Given the description of an element on the screen output the (x, y) to click on. 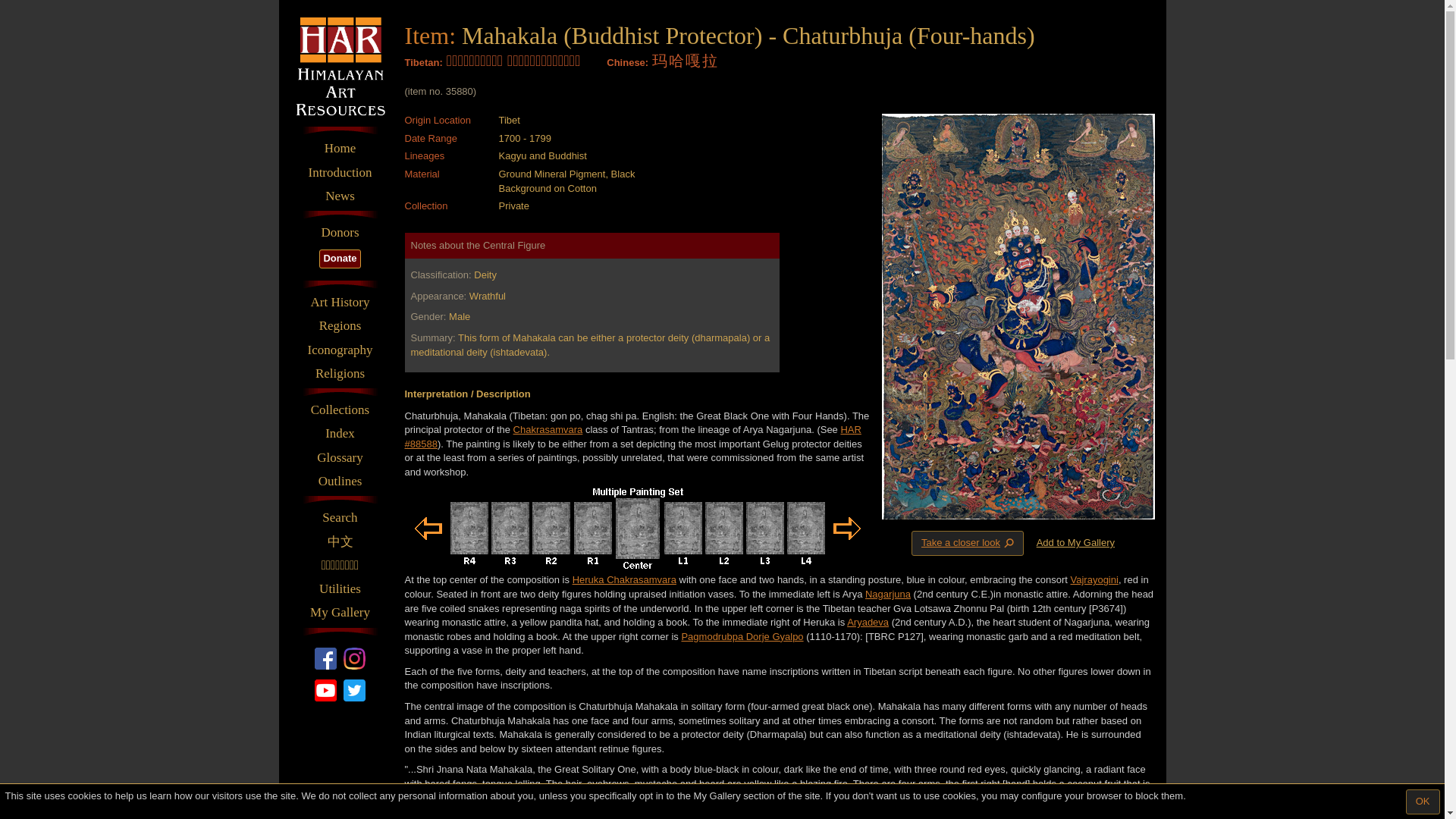
Iconography (339, 350)
Religions (339, 373)
Glossary (339, 457)
Outlines (339, 481)
Regions (339, 325)
Donors (339, 232)
Introduction (339, 172)
Home (339, 148)
Art History (339, 302)
Utilities (339, 588)
Index (339, 434)
Search (339, 517)
My Gallery (339, 612)
Collections (339, 410)
Donate (338, 258)
